Given the description of an element on the screen output the (x, y) to click on. 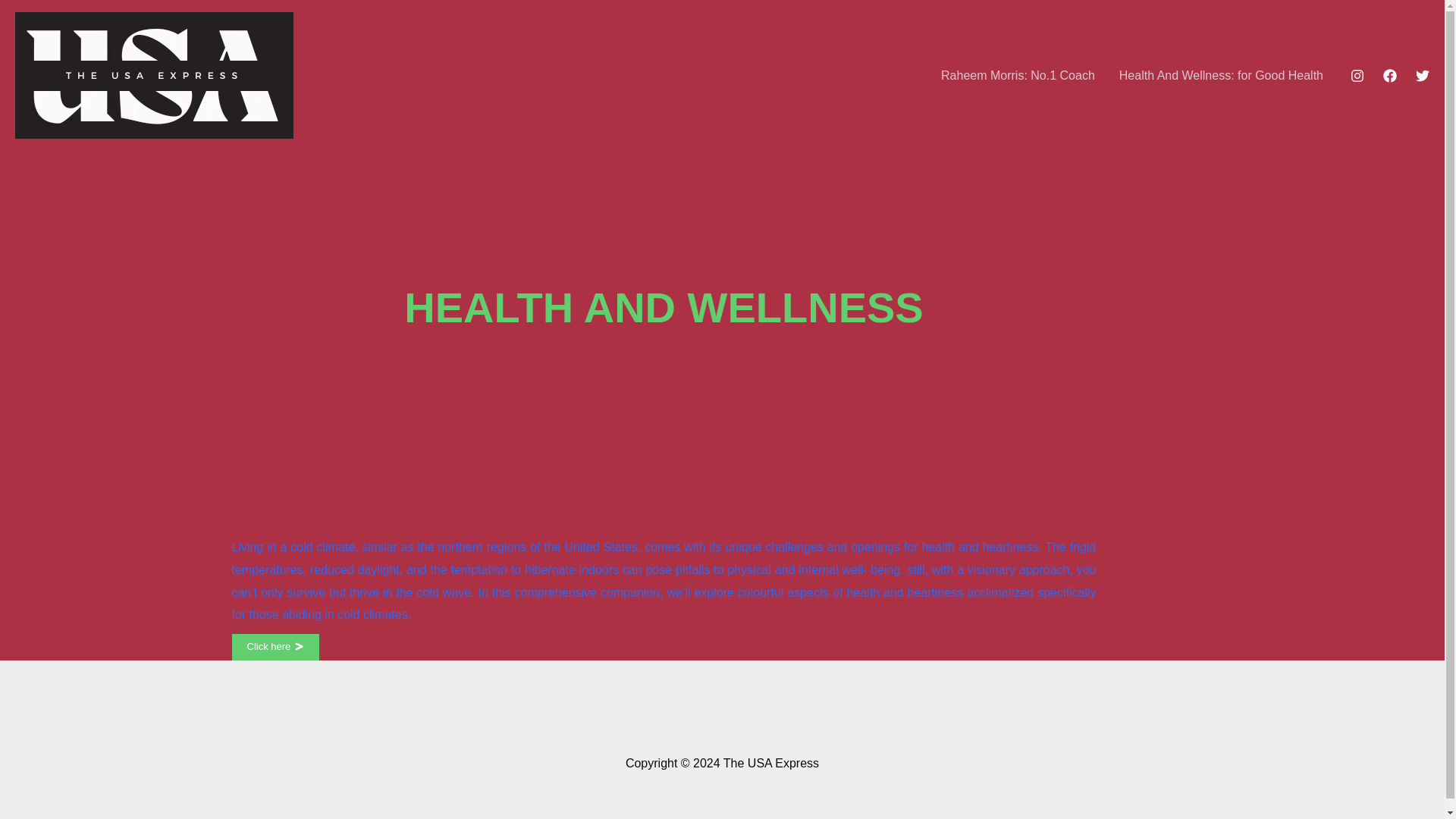
Raheem Morris: No.1 Coach (1017, 75)
Health And Wellness: for Good Health (1220, 75)
Click here (275, 646)
